Given the description of an element on the screen output the (x, y) to click on. 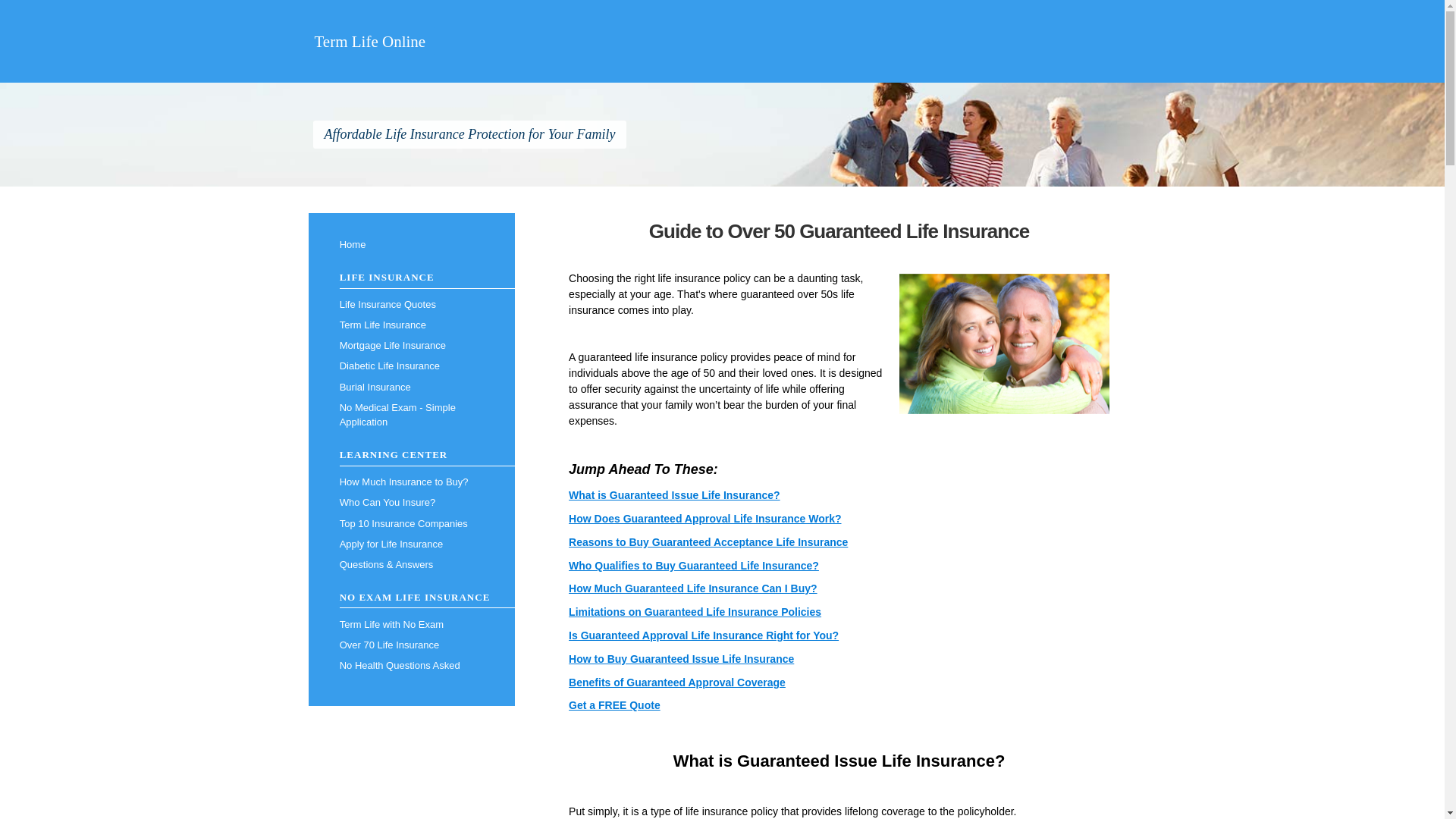
Term Life Online (368, 40)
Diabetic Life Insurance (411, 366)
Is Guaranteed Approval Life Insurance Right for You? (703, 635)
Term Life Insurance (411, 324)
Limitations on Guaranteed Life Insurance Policies (695, 612)
Reasons to Buy Guaranteed Acceptance Life Insurance (708, 541)
Get a FREE Quote (615, 705)
How to Buy Guaranteed Issue Life Insurance (681, 658)
What is Guaranteed Issue Life Insurance? (674, 494)
